Given the description of an element on the screen output the (x, y) to click on. 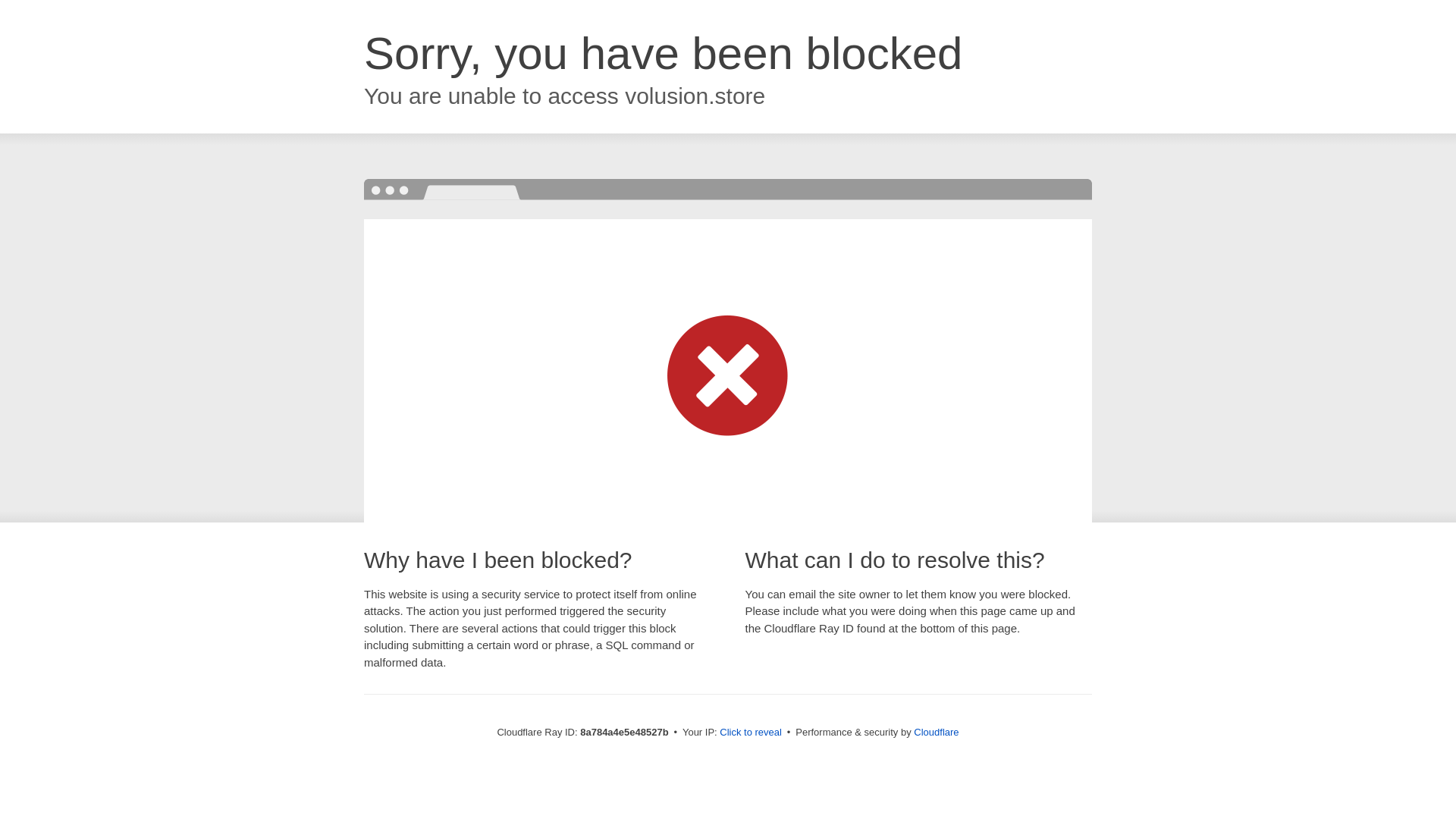
Cloudflare (936, 731)
Click to reveal (750, 732)
